Given the description of an element on the screen output the (x, y) to click on. 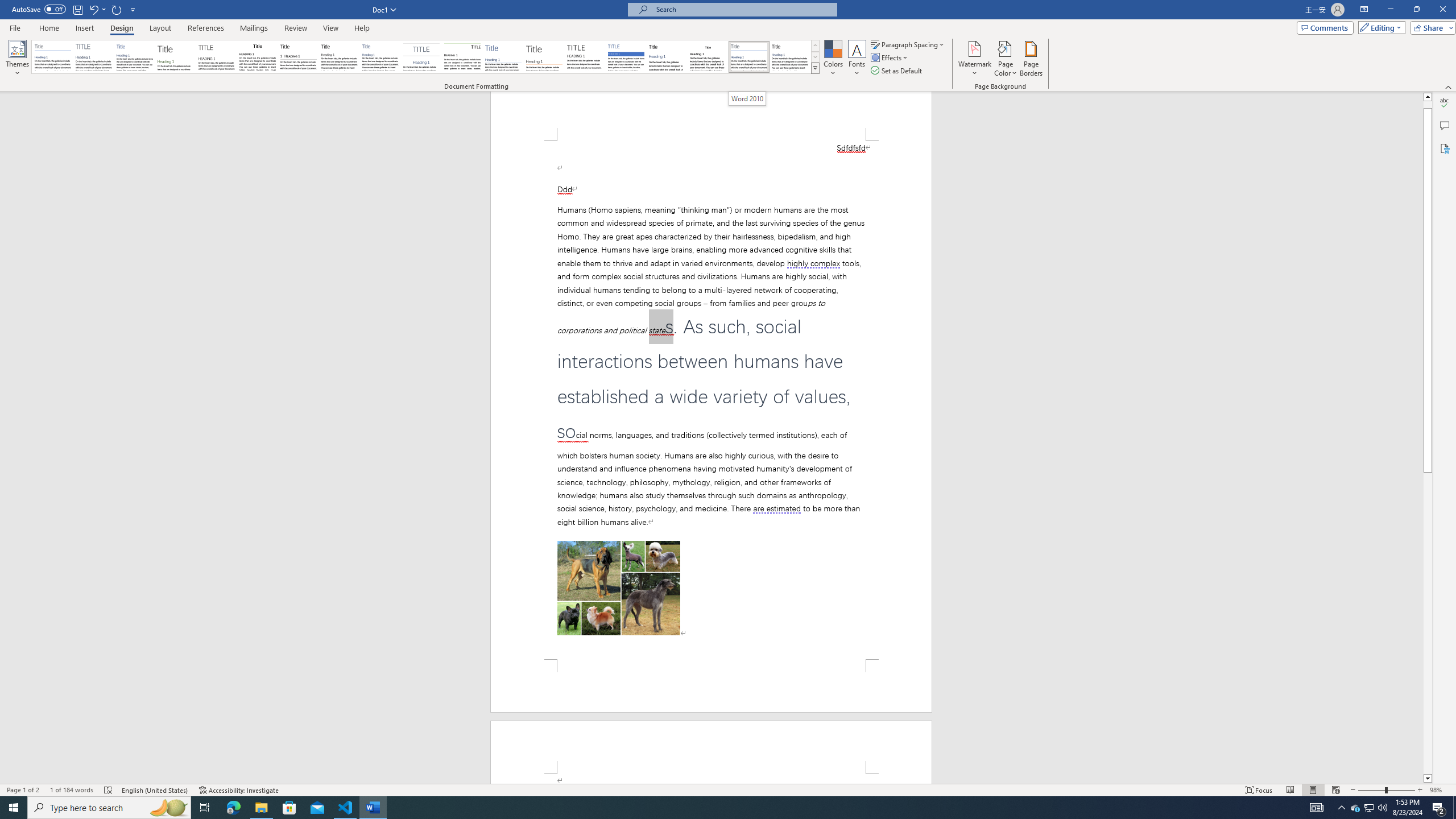
Page 1 content (710, 399)
AutomationID: QuickStylesSets (425, 56)
Undo Apply Quick Style Set (92, 9)
Black & White (Classic) (257, 56)
Word (666, 56)
Repeat Accessibility Checker (117, 9)
Lines (Simple) (503, 56)
Black & White (Capitalized) (216, 56)
